Given the description of an element on the screen output the (x, y) to click on. 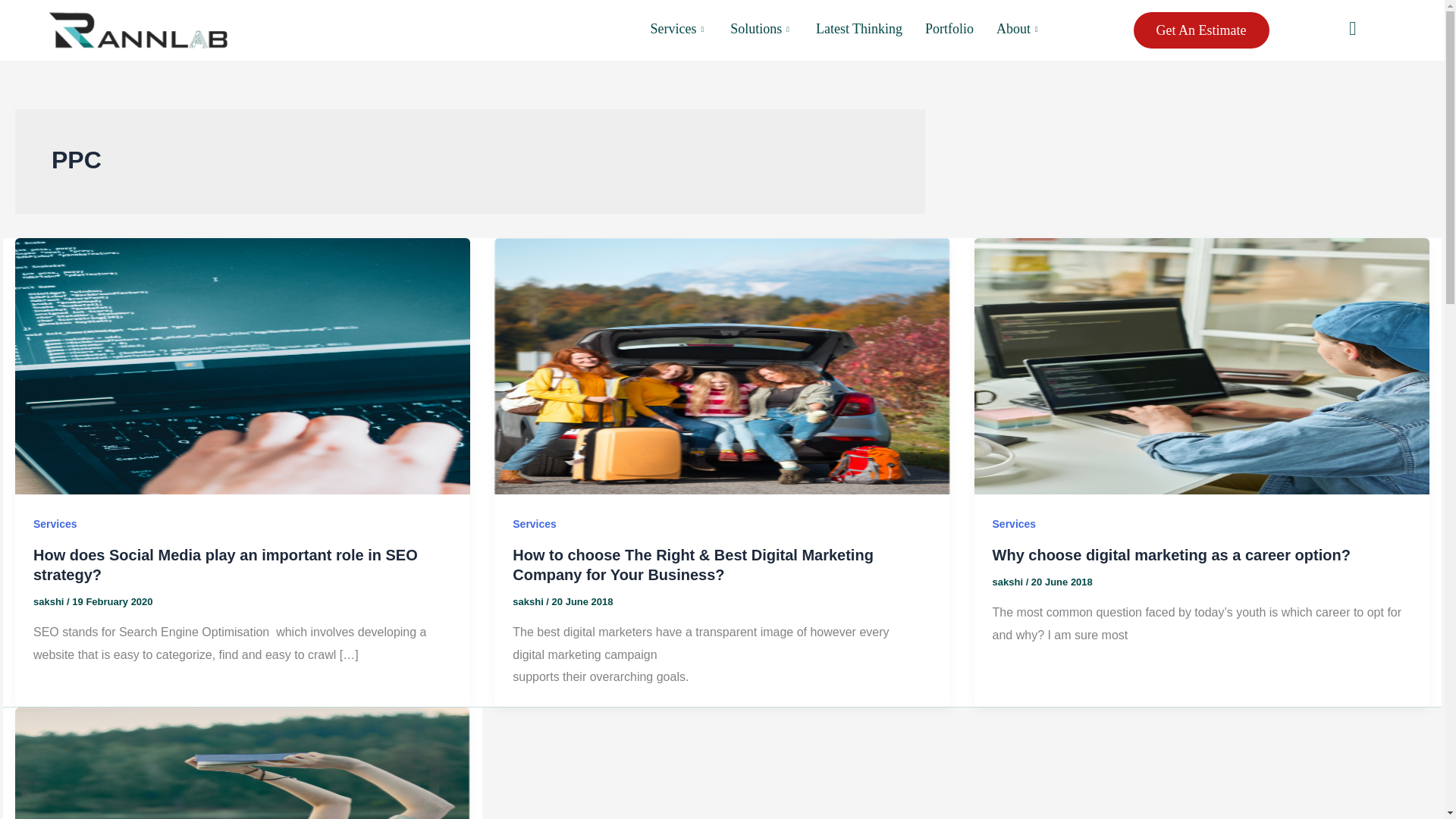
Services (679, 30)
View all posts by sakshi (1009, 582)
Solutions (762, 30)
Get An Estimate (1201, 30)
About (1018, 30)
Portfolio (949, 30)
View all posts by sakshi (529, 601)
View all posts by sakshi (49, 601)
Latest Thinking (859, 30)
